Given the description of an element on the screen output the (x, y) to click on. 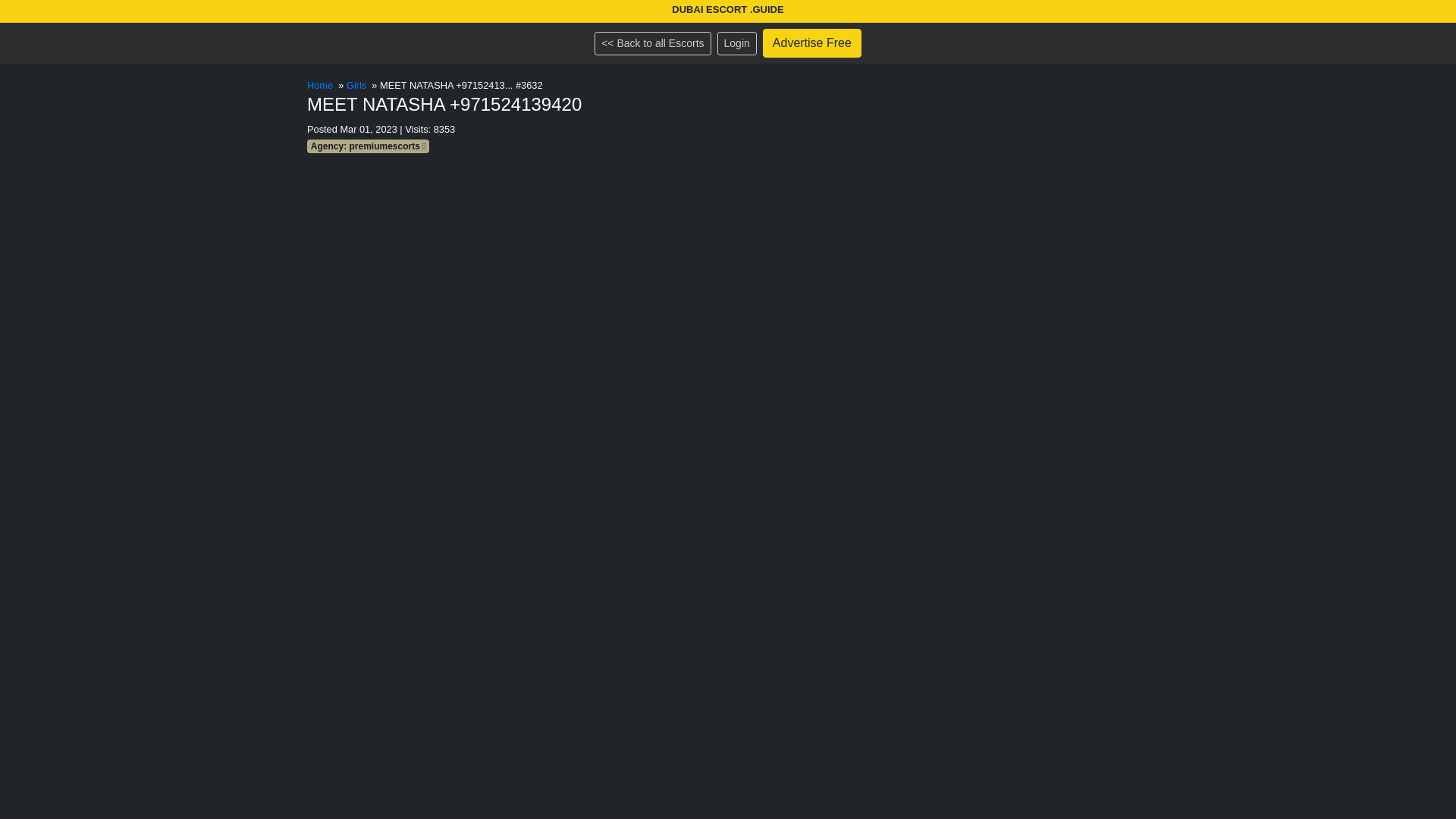
Login (737, 43)
Advertise (811, 42)
Advertise Free (811, 42)
